Given the description of an element on the screen output the (x, y) to click on. 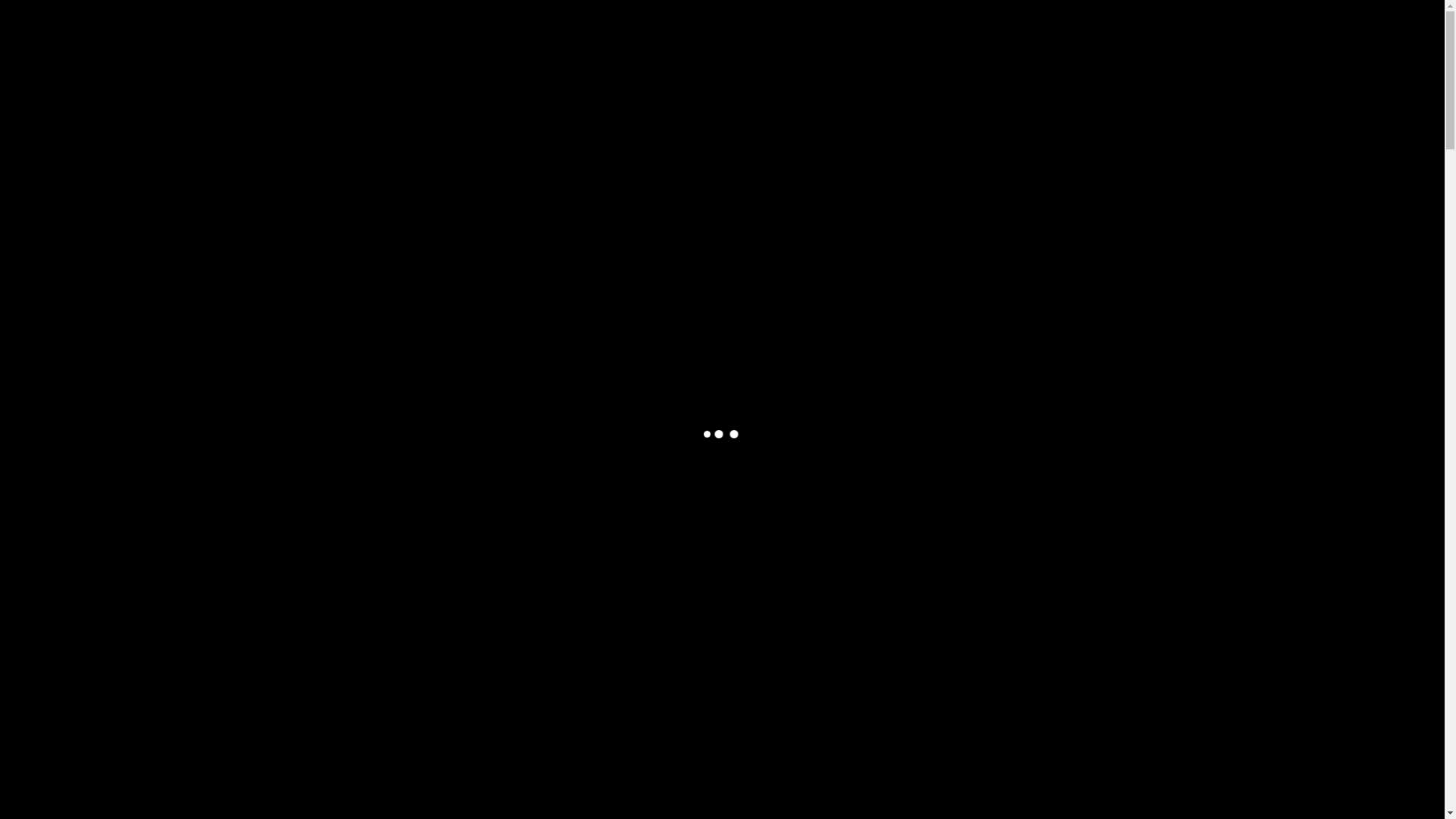
Contact Element type: text (1112, 30)
Wat doe ik Element type: text (970, 30)
Realisaties Element type: text (1044, 30)
Over mezelf Element type: text (894, 30)
Home Element type: text (829, 30)
